Given the description of an element on the screen output the (x, y) to click on. 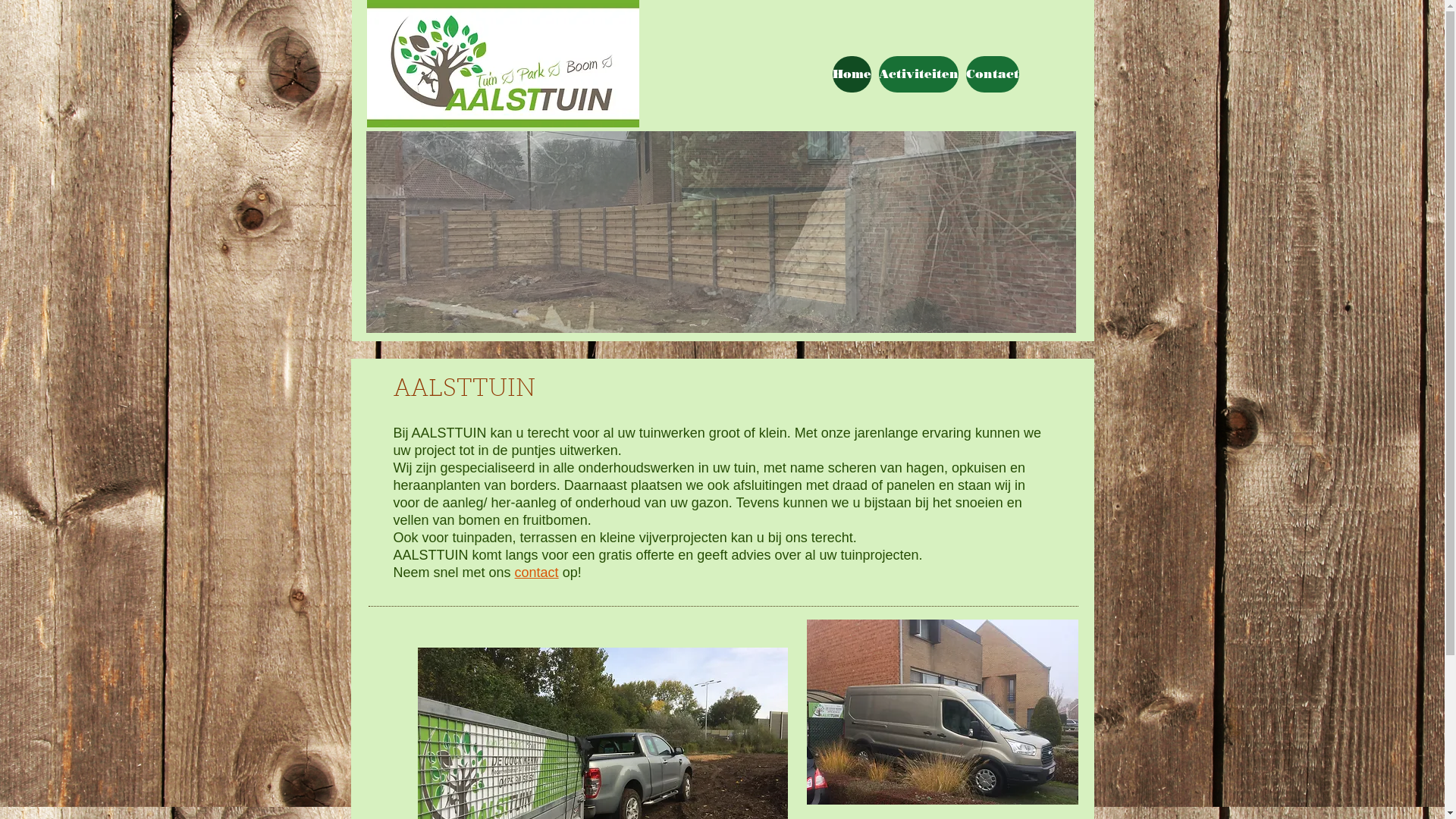
Contact Element type: text (992, 74)
Home Element type: text (851, 74)
contact Element type: text (536, 572)
Activiteiten Element type: text (917, 74)
